Given the description of an element on the screen output the (x, y) to click on. 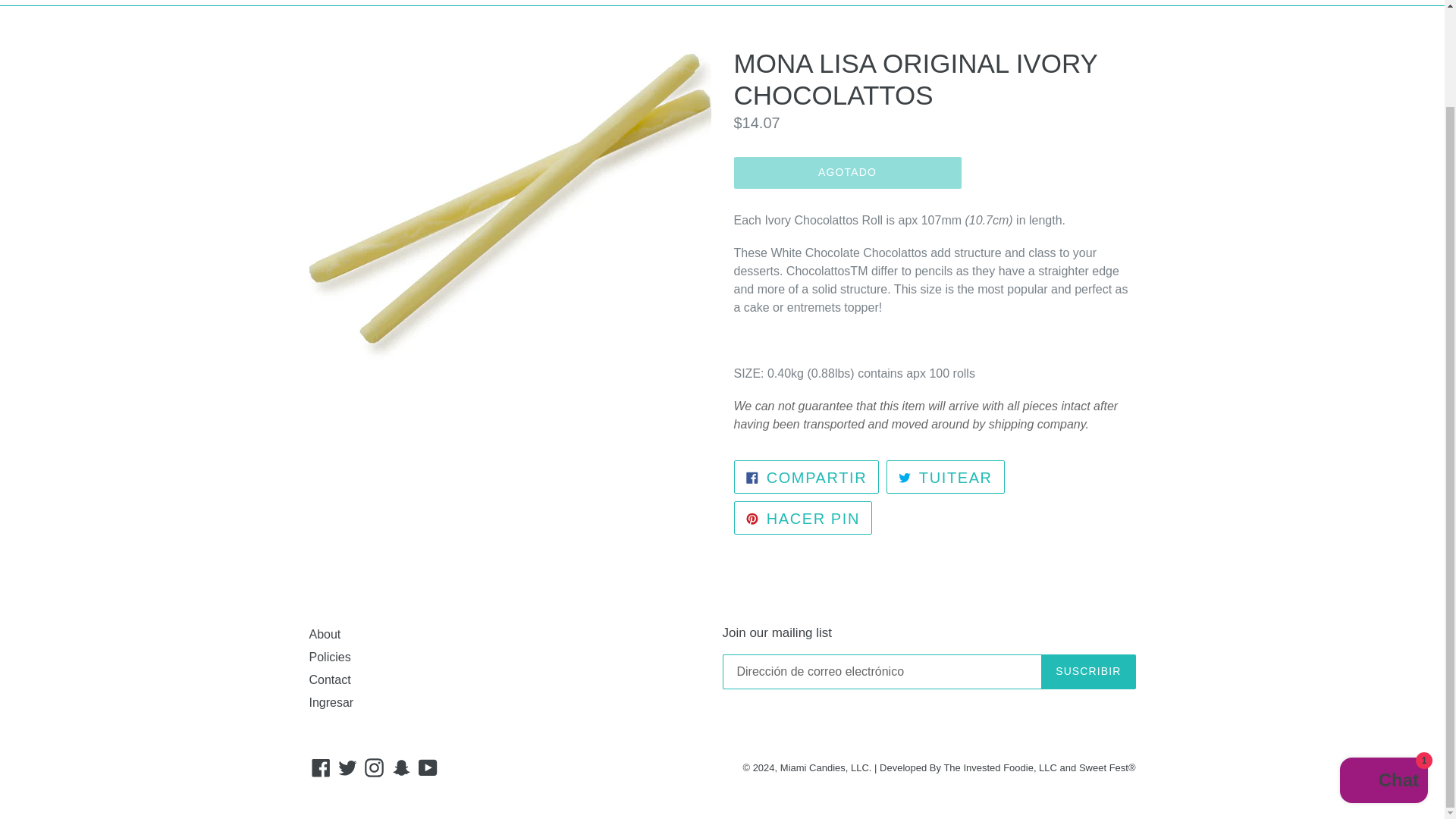
AGOTADO (846, 173)
Tuitear en Twitter (945, 476)
Miami Candies, LLC. en Snapchat (401, 767)
Chat de la tienda online Shopify (1383, 670)
Miami Candies, LLC. en YouTube (427, 767)
Miami Candies, LLC. en Twitter (347, 767)
Miami Candies, LLC. en Instagram (802, 517)
Pinear en Pinterest (373, 767)
Miami Candies, LLC. en Facebook (945, 476)
Compartir en Facebook (802, 517)
